Given the description of an element on the screen output the (x, y) to click on. 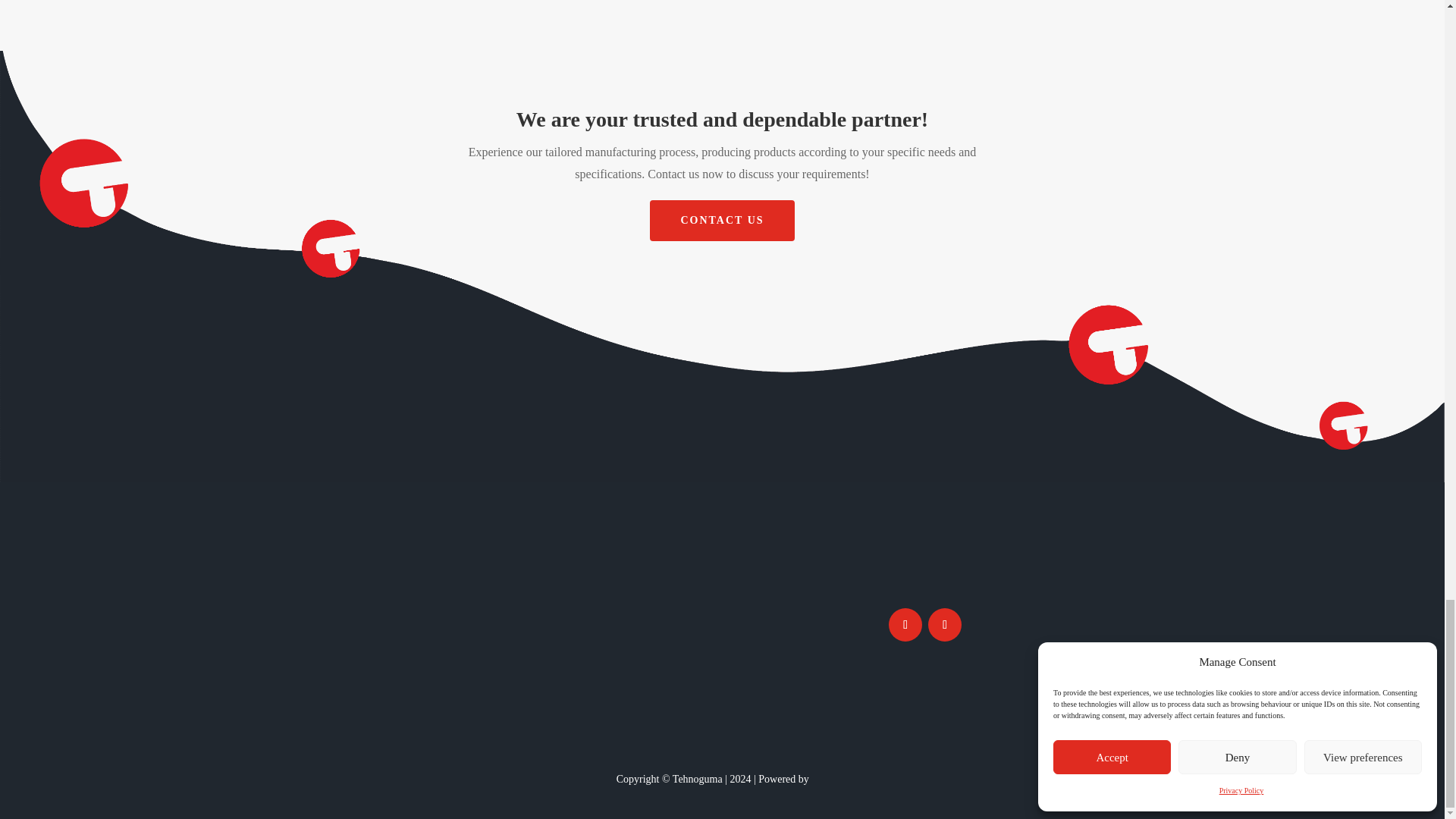
Follow on Facebook (904, 624)
CONTACT US (721, 219)
Follow on LinkedIn (944, 624)
